Given the description of an element on the screen output the (x, y) to click on. 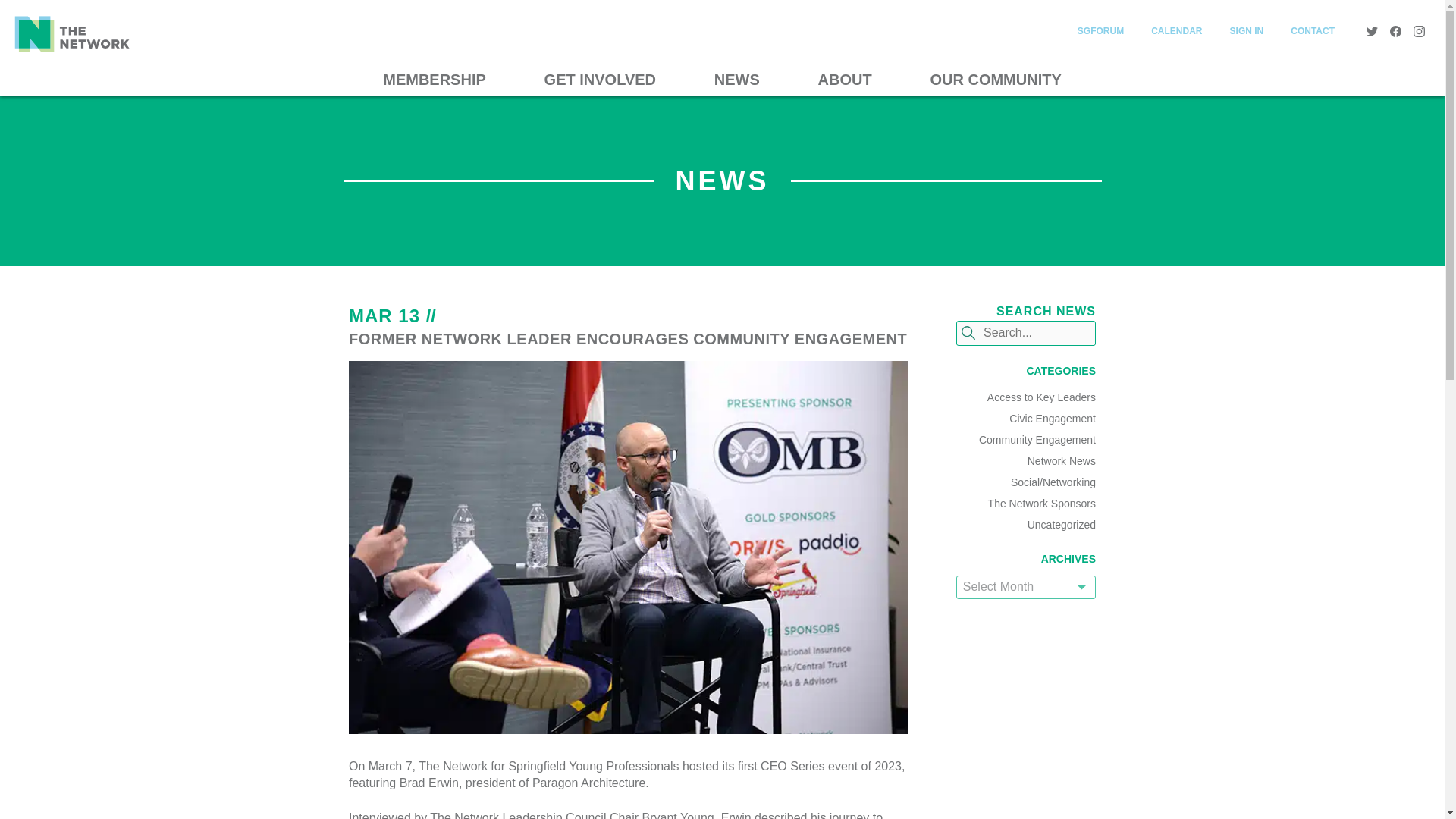
Facebook icon (1395, 30)
SIGN IN (1246, 30)
CALENDAR (1176, 30)
MEMBERSHIP (434, 79)
SGFORUM (1100, 30)
CONTACT (1312, 30)
OUR COMMUNITY (995, 79)
Twitter icon (1372, 30)
ABOUT (845, 79)
Instagram icon (1419, 30)
